Given the description of an element on the screen output the (x, y) to click on. 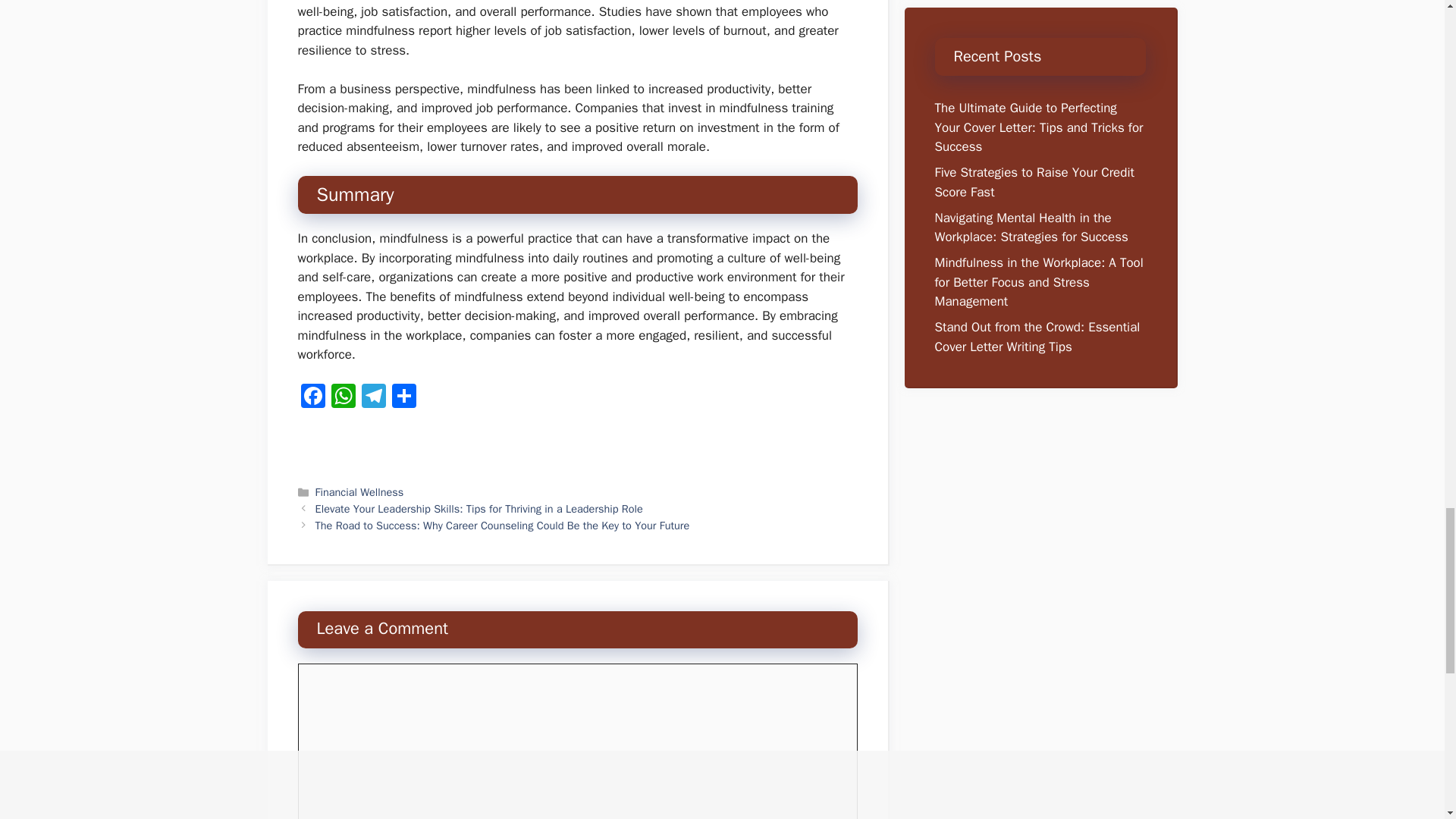
Financial Wellness (359, 491)
WhatsApp (342, 398)
WhatsApp (342, 398)
Facebook (312, 398)
Telegram (373, 398)
Telegram (373, 398)
Facebook (312, 398)
